Given the description of an element on the screen output the (x, y) to click on. 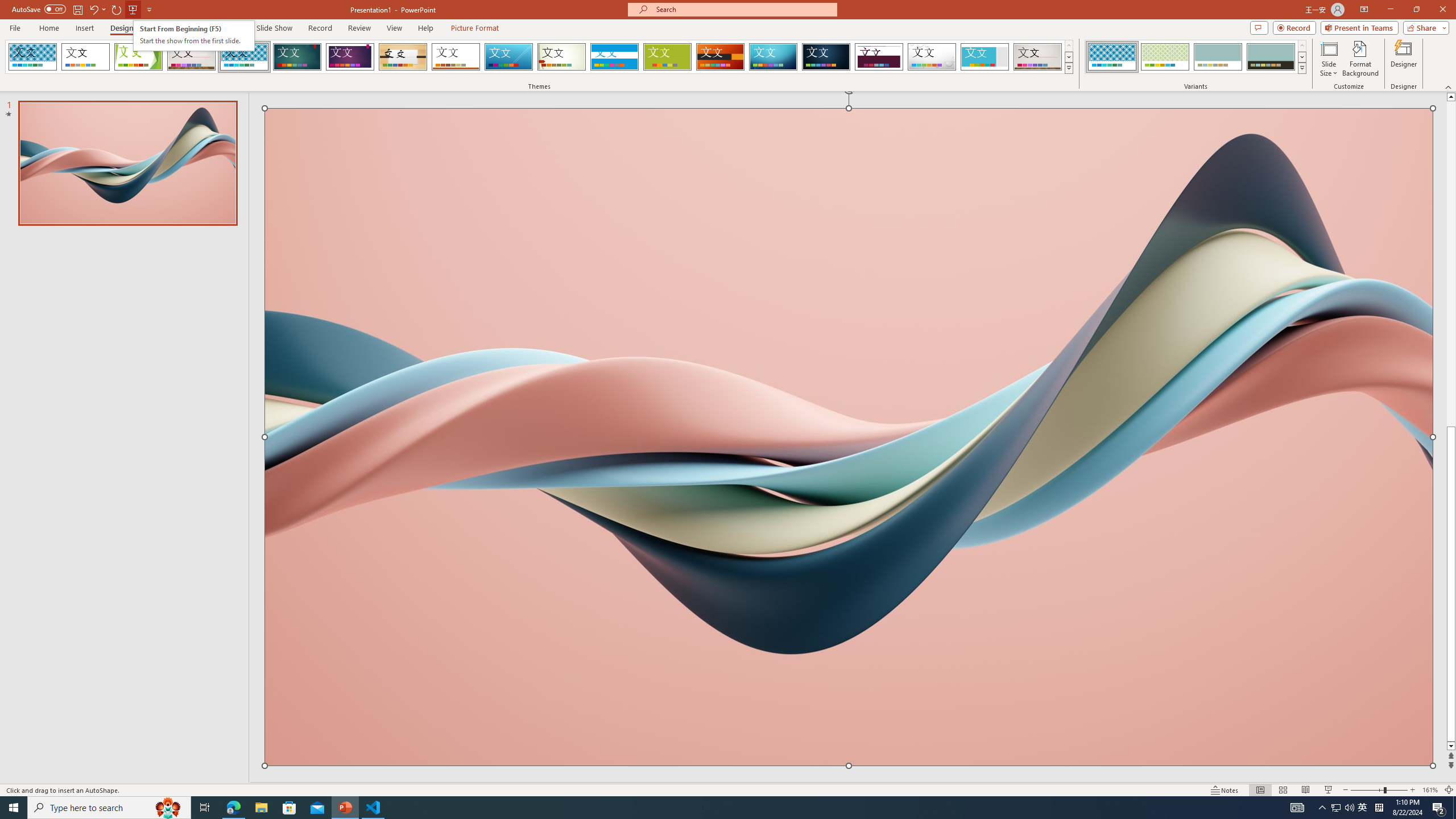
Integral Variant 3 (1217, 56)
Damask (826, 56)
Ion (296, 56)
